Given the description of an element on the screen output the (x, y) to click on. 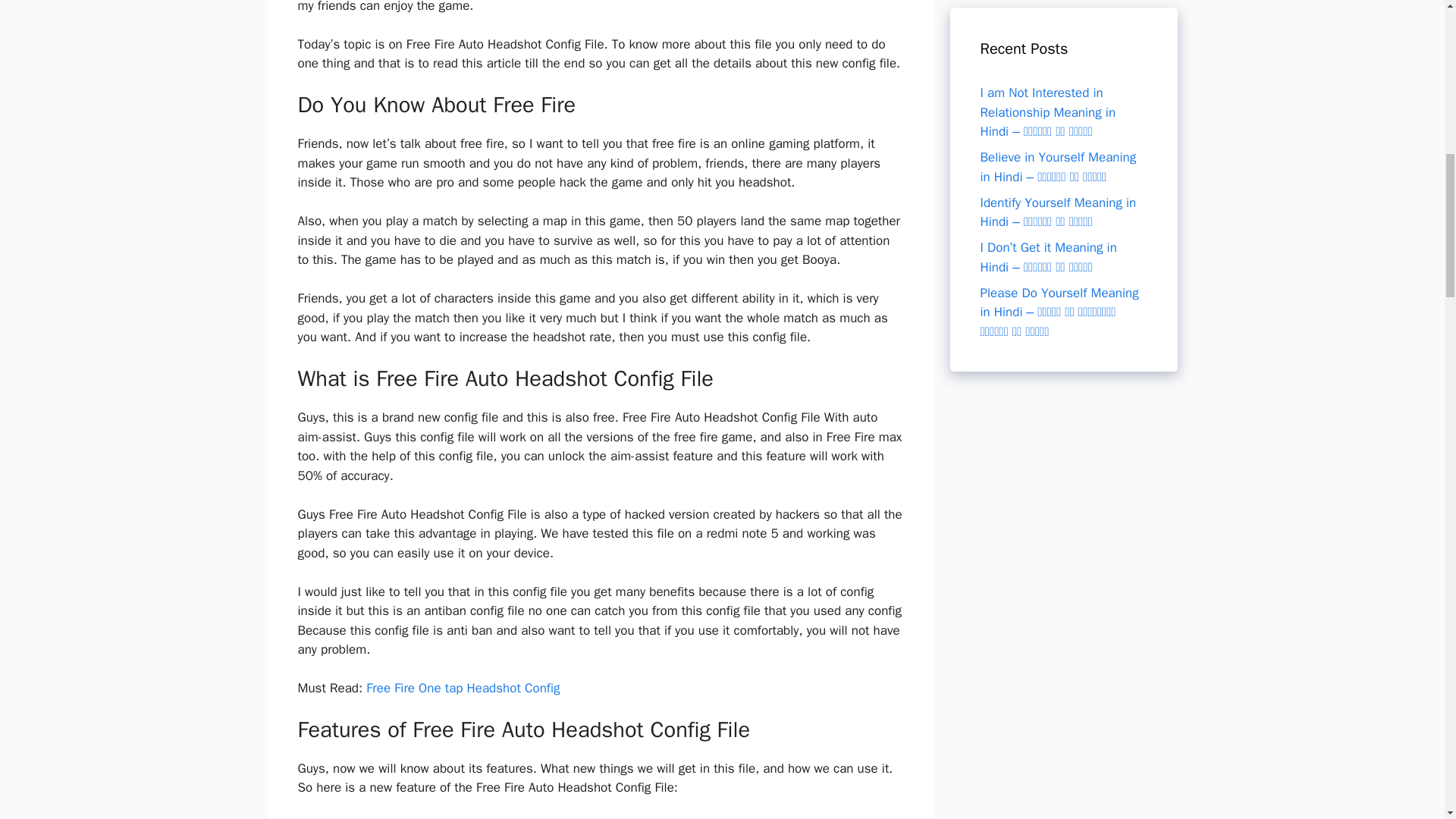
Free Fire One tap Headshot Config (462, 688)
